Given the description of an element on the screen output the (x, y) to click on. 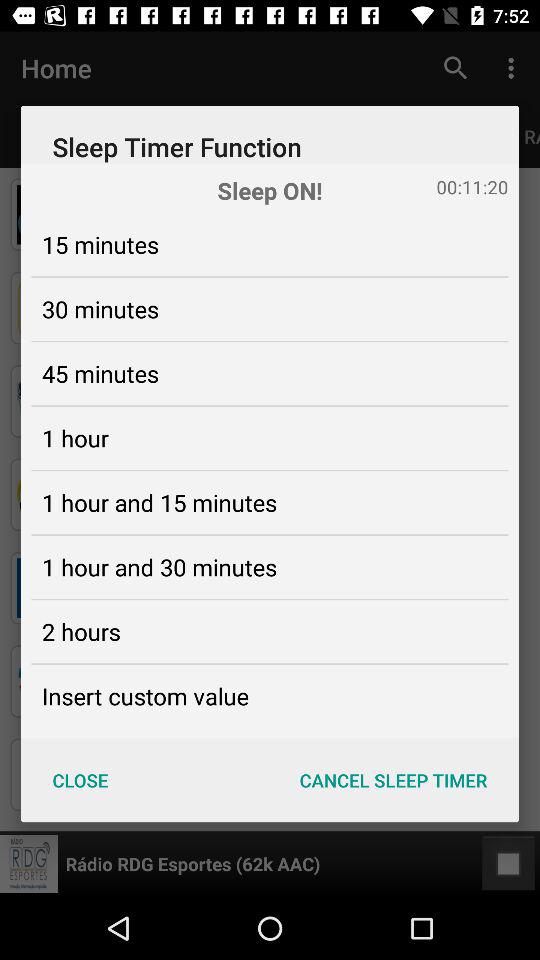
jump to the 2 hours icon (81, 631)
